Given the description of an element on the screen output the (x, y) to click on. 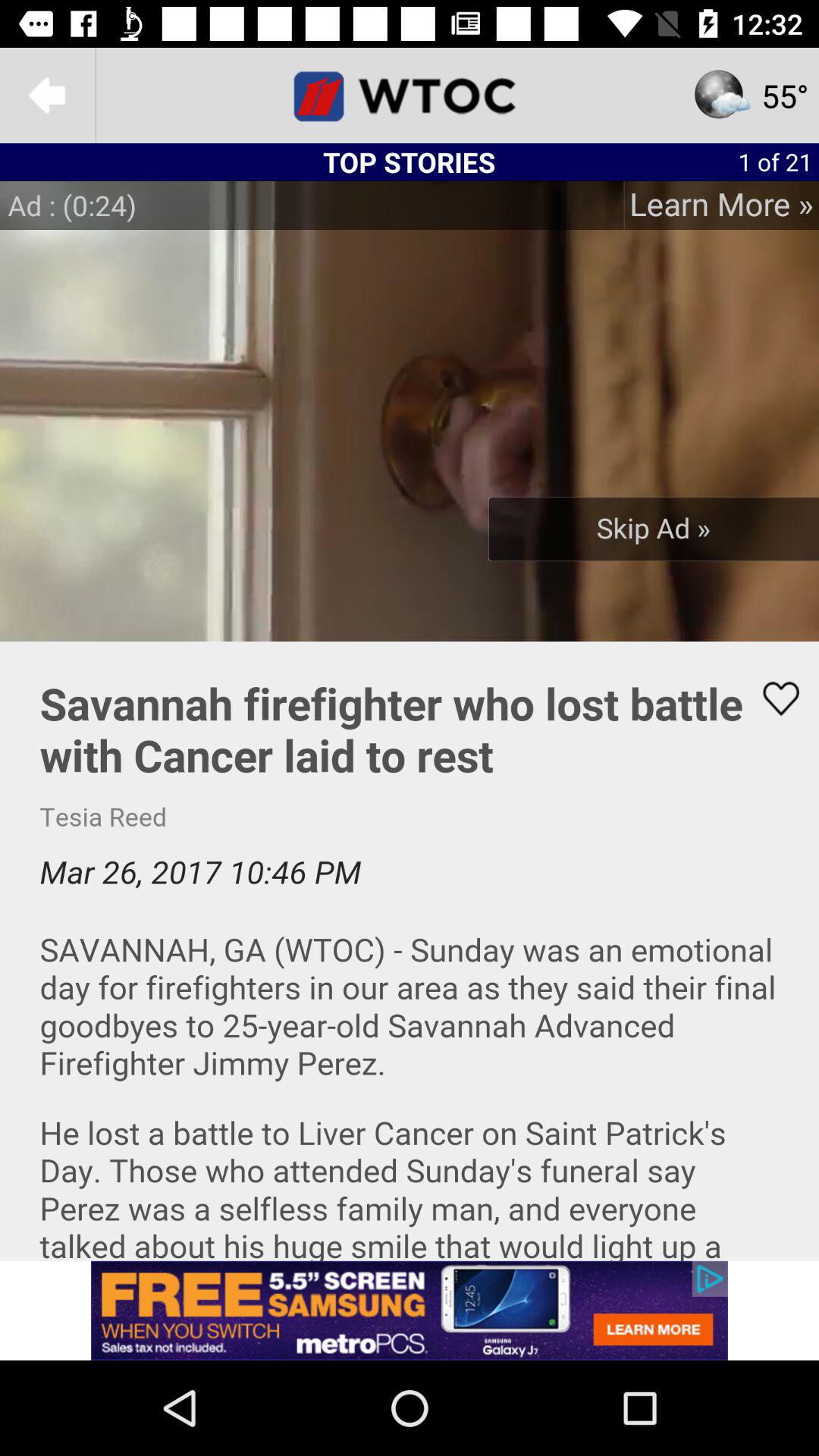
main menu button (409, 95)
